Given the description of an element on the screen output the (x, y) to click on. 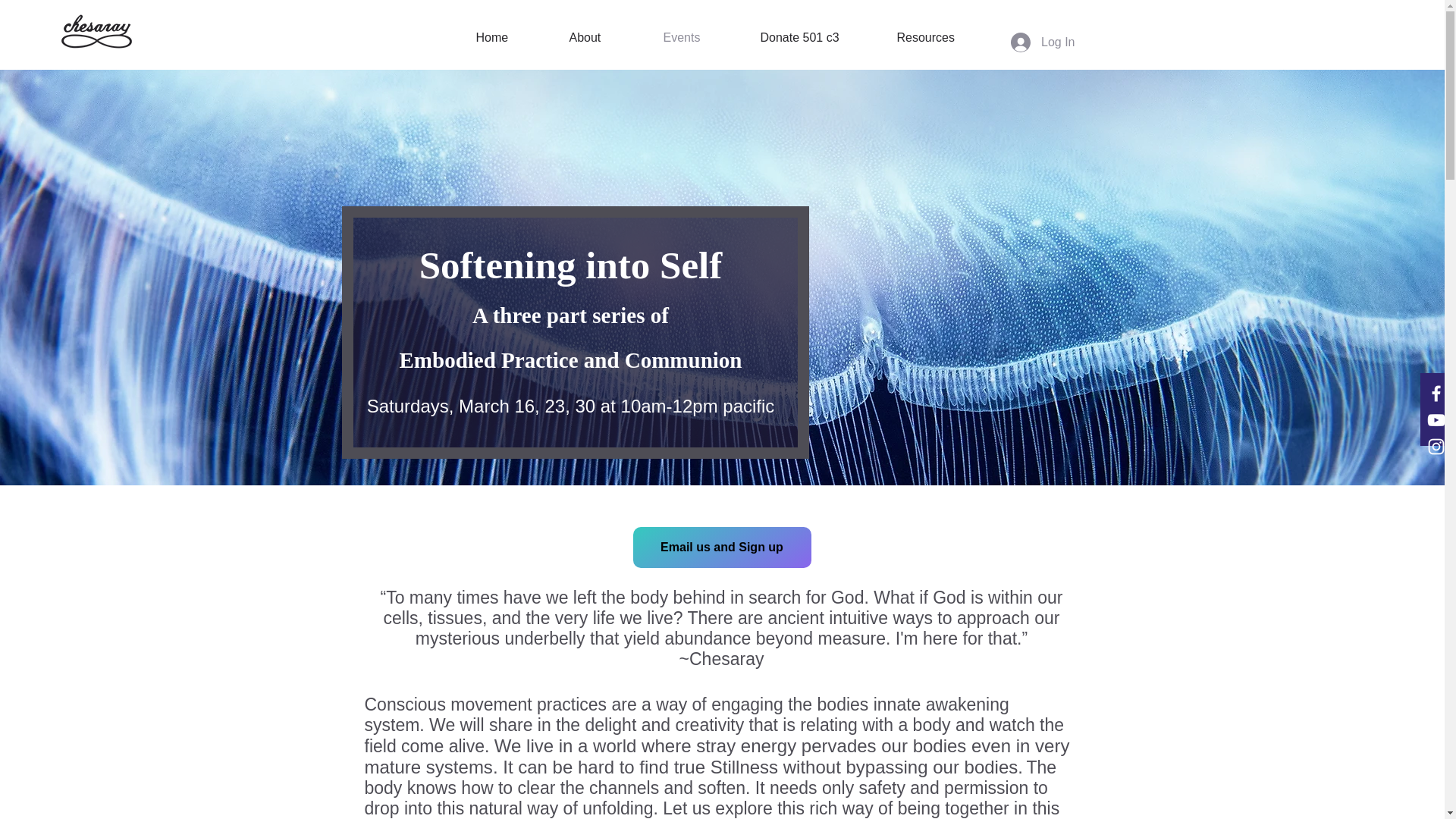
Email us and Sign up (720, 547)
About (604, 37)
Donate 501 c3 (817, 37)
Events (700, 37)
Resources (943, 37)
Home (510, 37)
Log In (1042, 41)
